Given the description of an element on the screen output the (x, y) to click on. 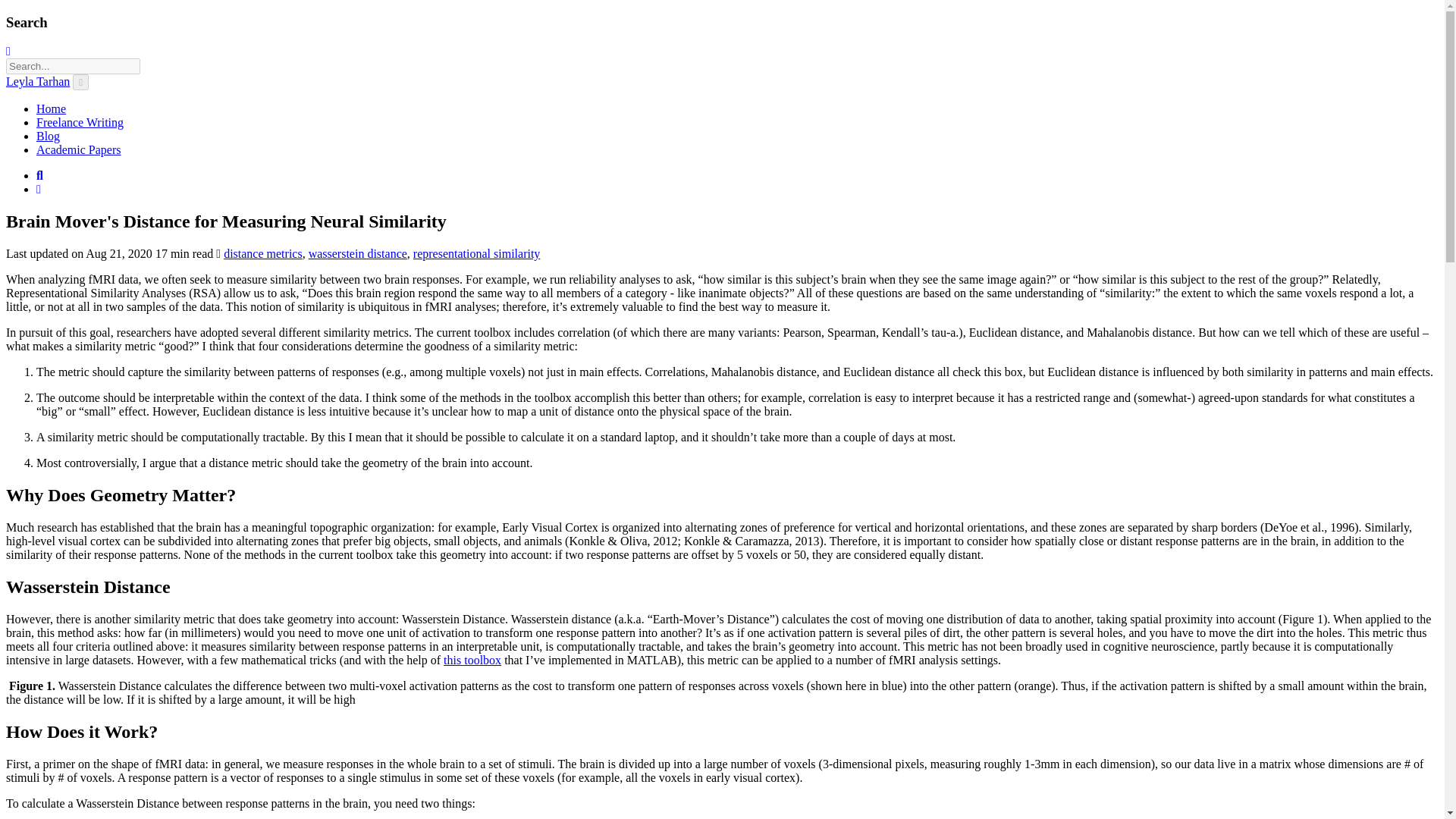
distance metrics (263, 253)
Home (50, 108)
Freelance Writing (79, 122)
wasserstein distance (357, 253)
Blog (47, 135)
Academic Papers (78, 149)
Leyla Tarhan (37, 81)
this toolbox (472, 659)
representational similarity (476, 253)
